Given the description of an element on the screen output the (x, y) to click on. 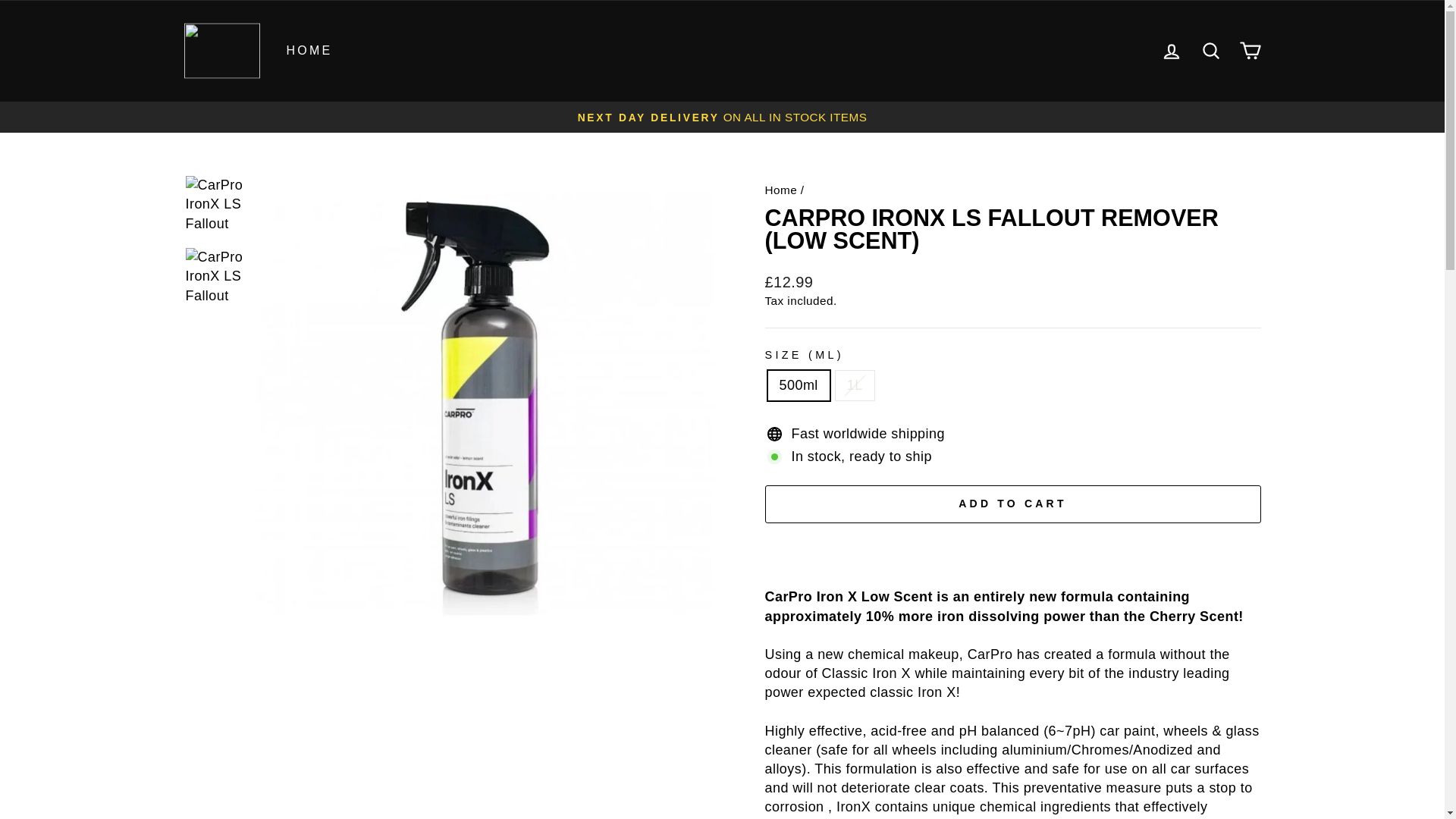
Home (780, 189)
ICON-SEARCH (1210, 50)
CART (1249, 51)
ADD TO CART (1012, 504)
ACCOUNT (1170, 51)
HOME (309, 50)
Back to the frontpage (780, 189)
